Given the description of an element on the screen output the (x, y) to click on. 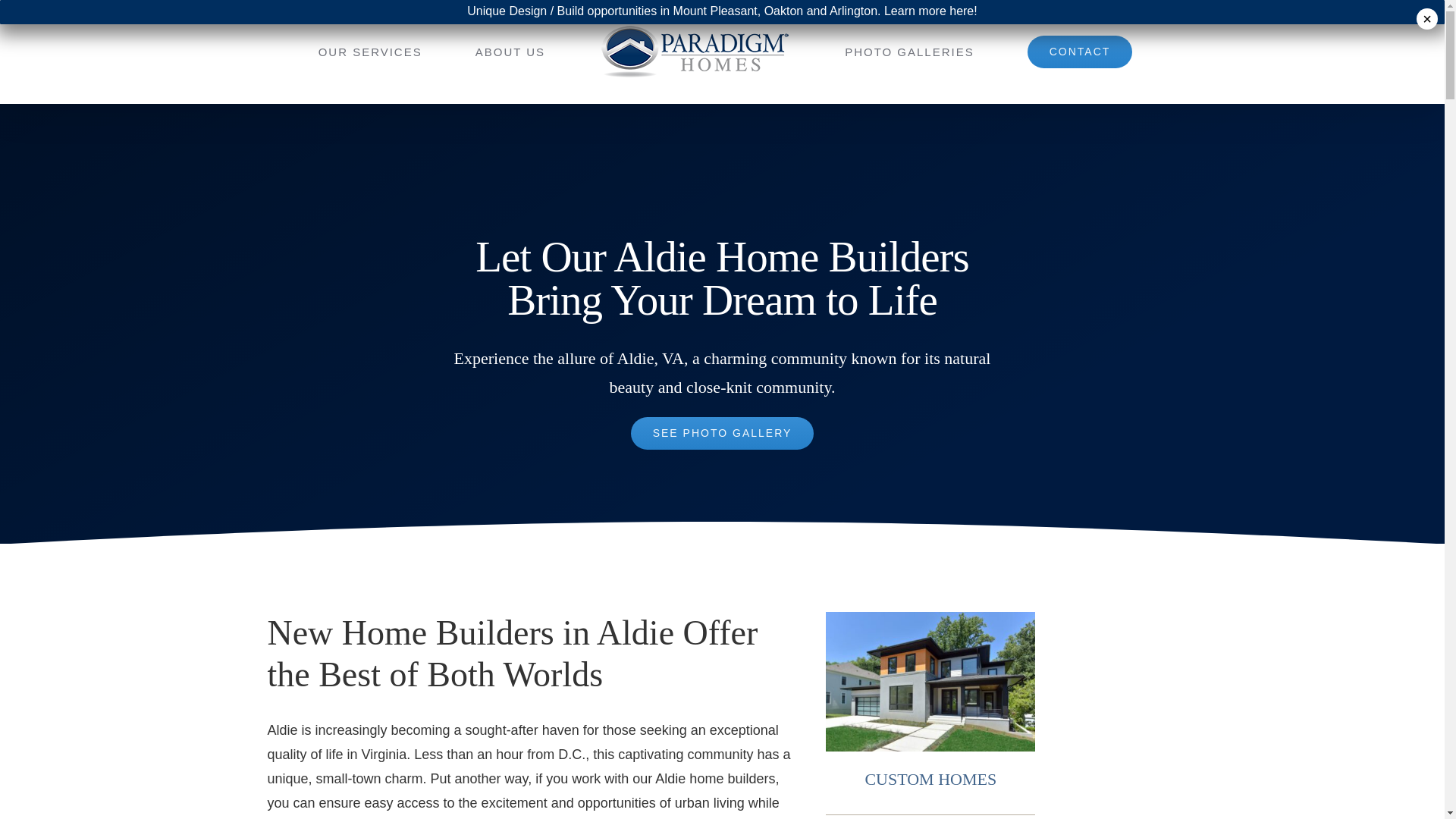
OUR SERVICES (370, 51)
ABOUT US (510, 51)
PHOTO GALLERIES (909, 51)
CONTACT (1079, 51)
